Given the description of an element on the screen output the (x, y) to click on. 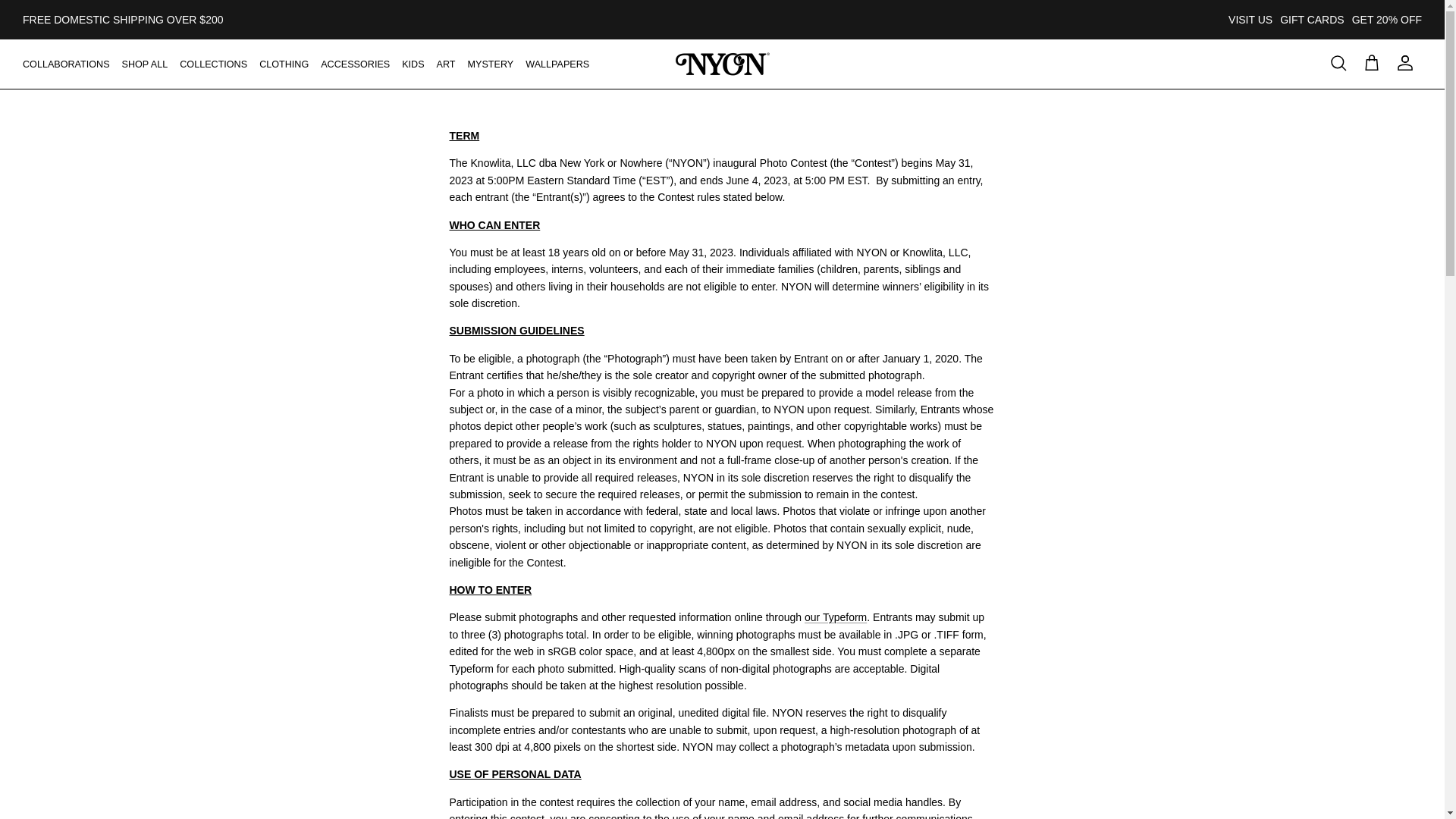
VISIT US (1250, 19)
COLLABORATIONS (66, 63)
COLLECTIONS (213, 63)
MYSTERY (490, 63)
CLOTHING (283, 63)
Account (1404, 63)
WALLPAPERS (557, 63)
Search (1338, 63)
Cart (1371, 63)
SHOP ALL (145, 63)
